Given the description of an element on the screen output the (x, y) to click on. 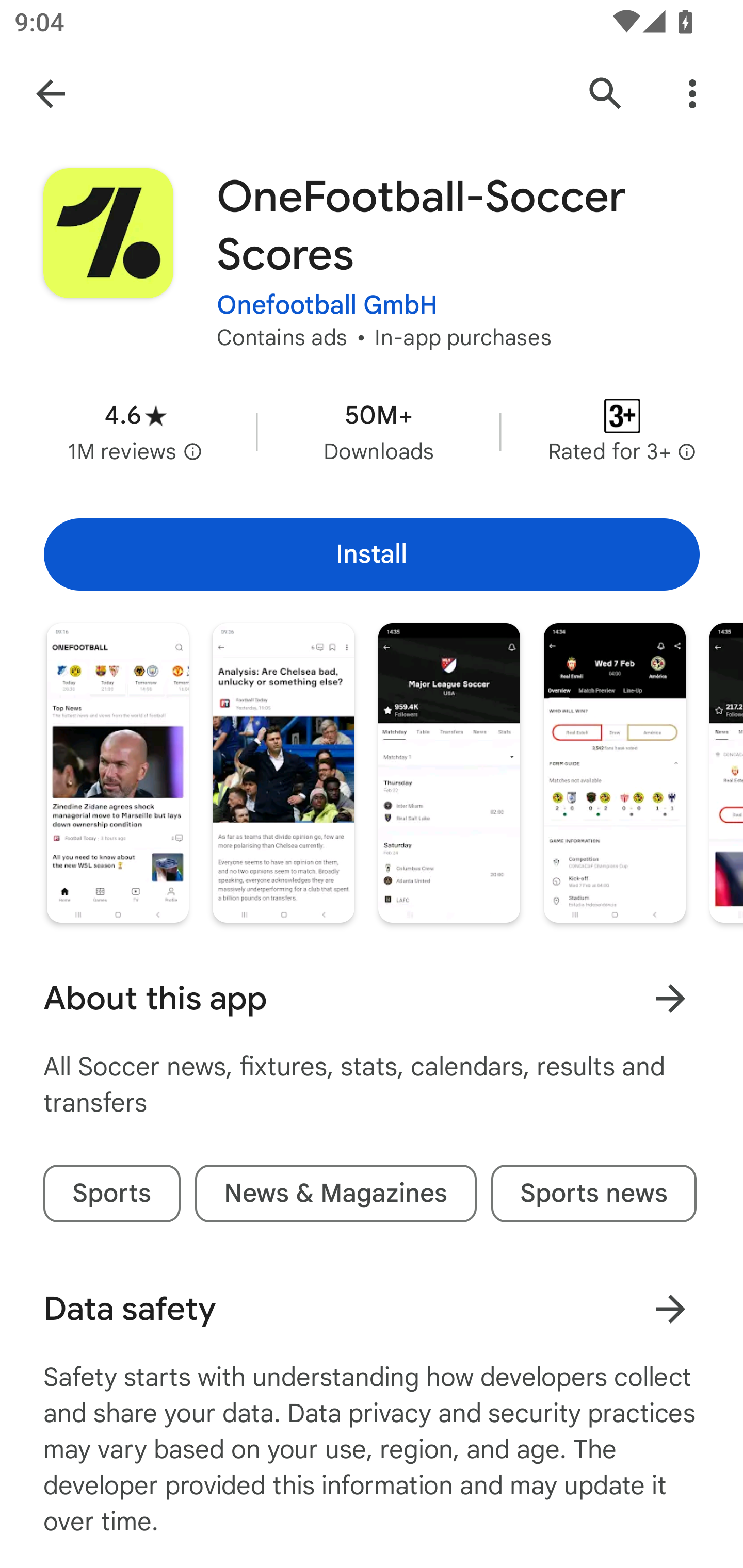
Navigate up (50, 93)
Search Google Play (605, 93)
More Options (692, 93)
Onefootball GmbH (327, 304)
Average rating 4.6 stars in 1 million reviews (135, 431)
Content rating Rated for 3+ (622, 431)
Install (371, 554)
Screenshot "1" of "8" (117, 771)
Screenshot "2" of "8" (283, 771)
Screenshot "3" of "8" (449, 771)
Screenshot "4" of "8" (614, 771)
About this app Learn more About this app (371, 998)
Learn more About this app (670, 997)
Sports tag (111, 1193)
News & Magazines tag (335, 1193)
Sports news tag (593, 1193)
Data safety Learn more about data safety (371, 1309)
Learn more about data safety (670, 1308)
